Given the description of an element on the screen output the (x, y) to click on. 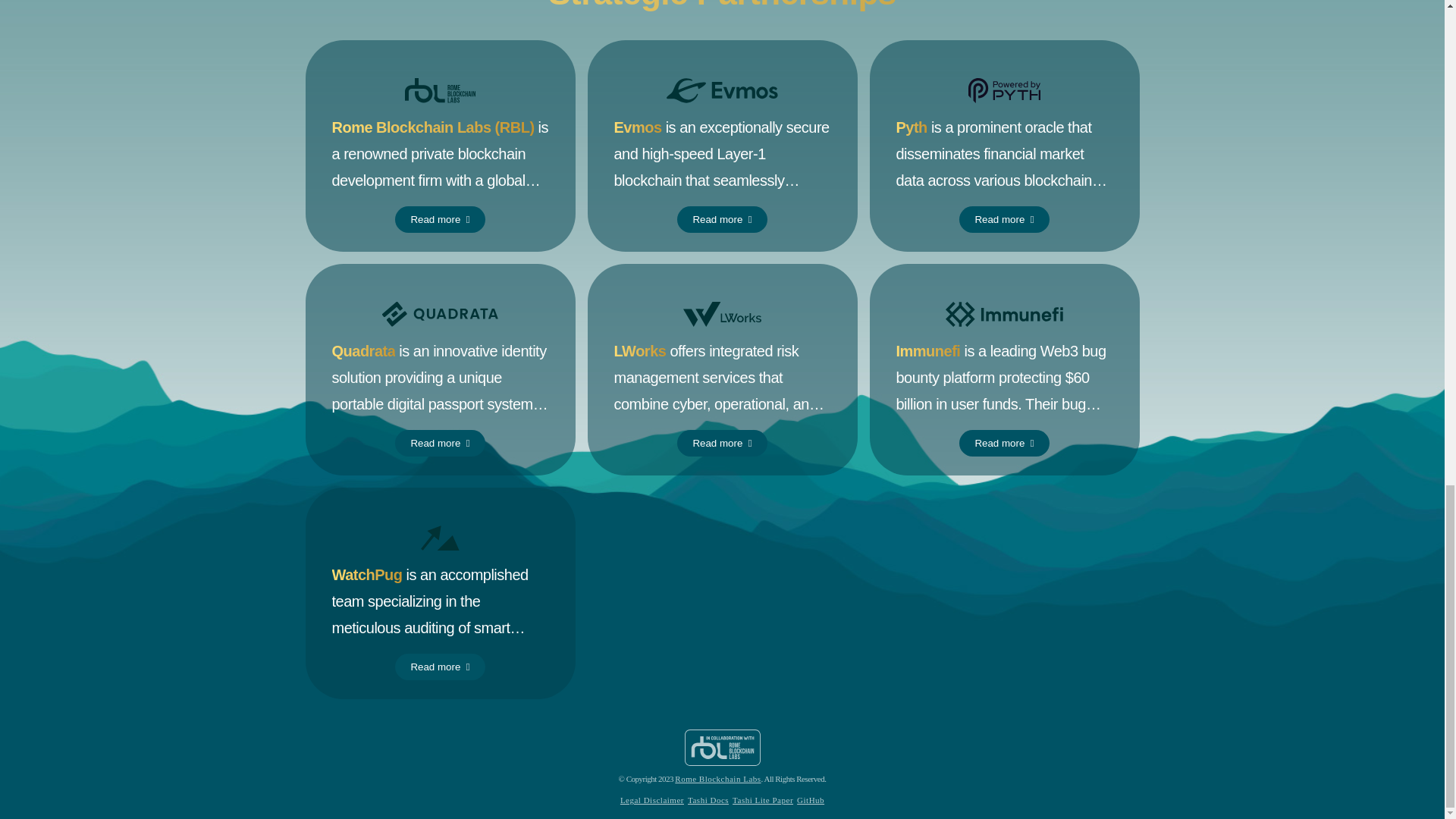
GitHub (810, 799)
Rome Blockchain Labs (717, 777)
Legal Disclaimer (652, 799)
Tashi Docs (708, 799)
Tashi Lite Paper (762, 799)
